Given the description of an element on the screen output the (x, y) to click on. 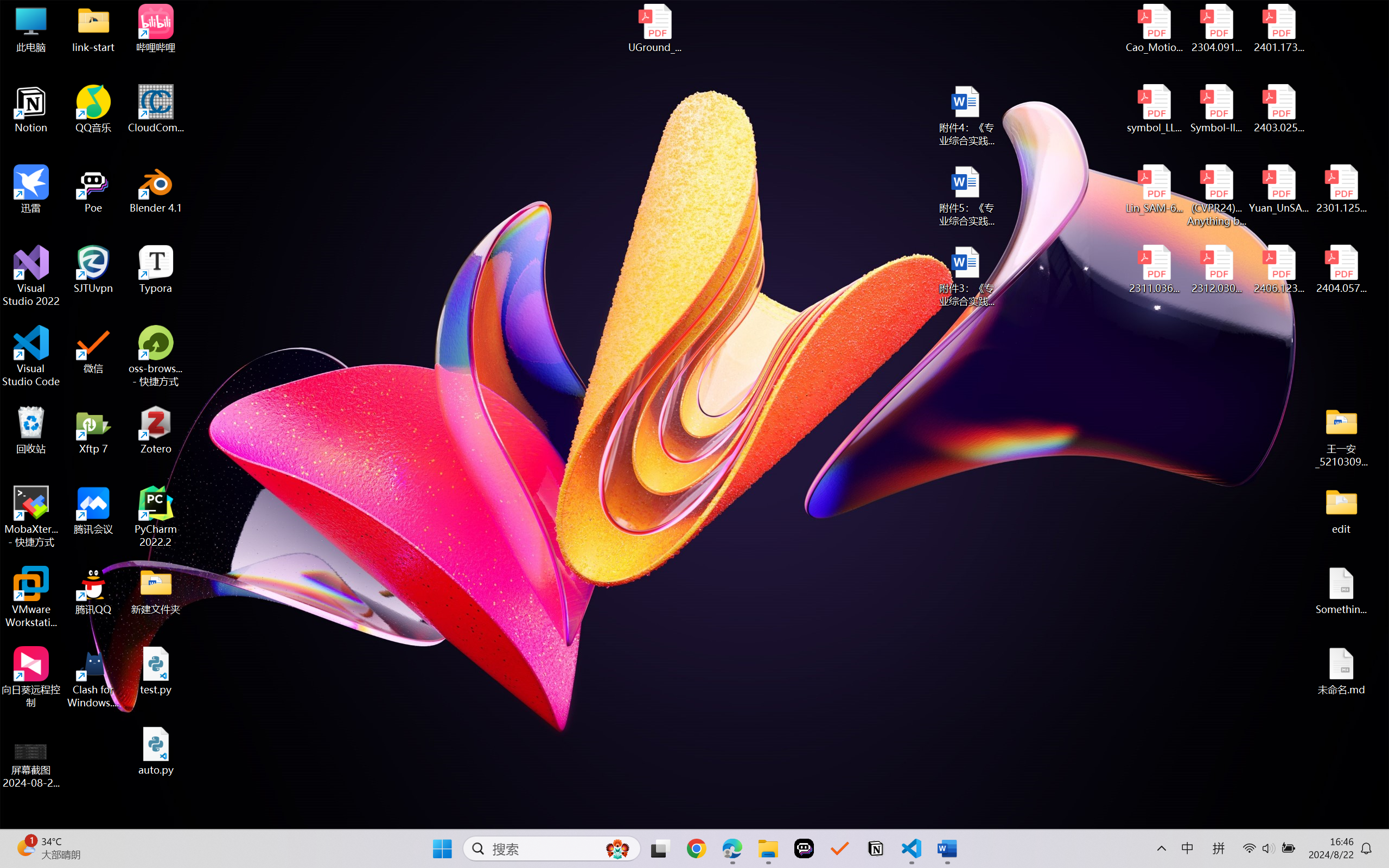
CloudCompare (156, 109)
2401.17399v1.pdf (1278, 28)
2404.05719v1.pdf (1340, 269)
SJTUvpn (93, 269)
2406.12373v2.pdf (1278, 269)
Something.md (1340, 591)
2312.03032v2.pdf (1216, 269)
